Given the description of an element on the screen output the (x, y) to click on. 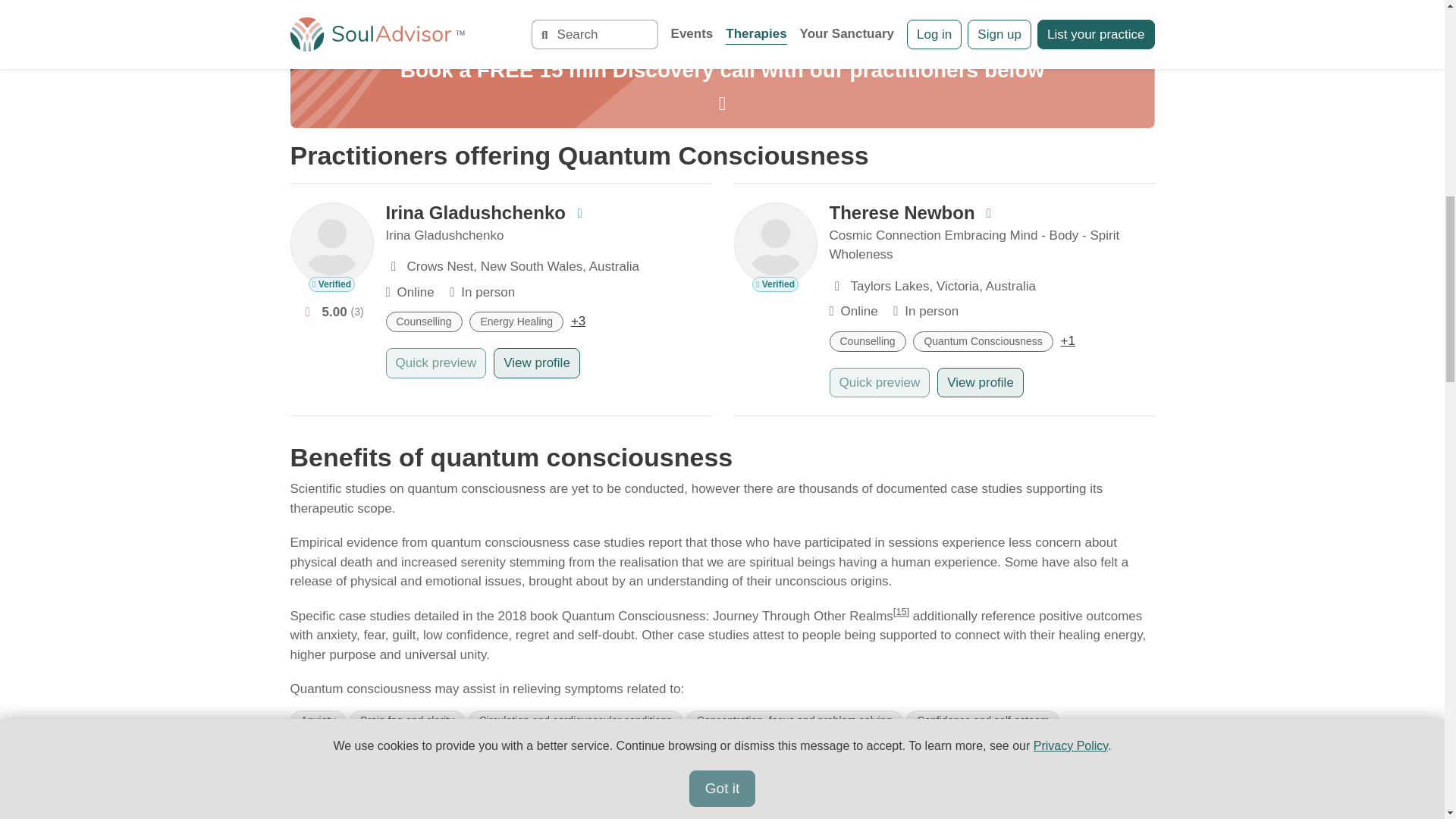
Energy Healing (519, 320)
Quantum Consciousness (985, 340)
Counselling (871, 340)
Counselling (426, 320)
